Given the description of an element on the screen output the (x, y) to click on. 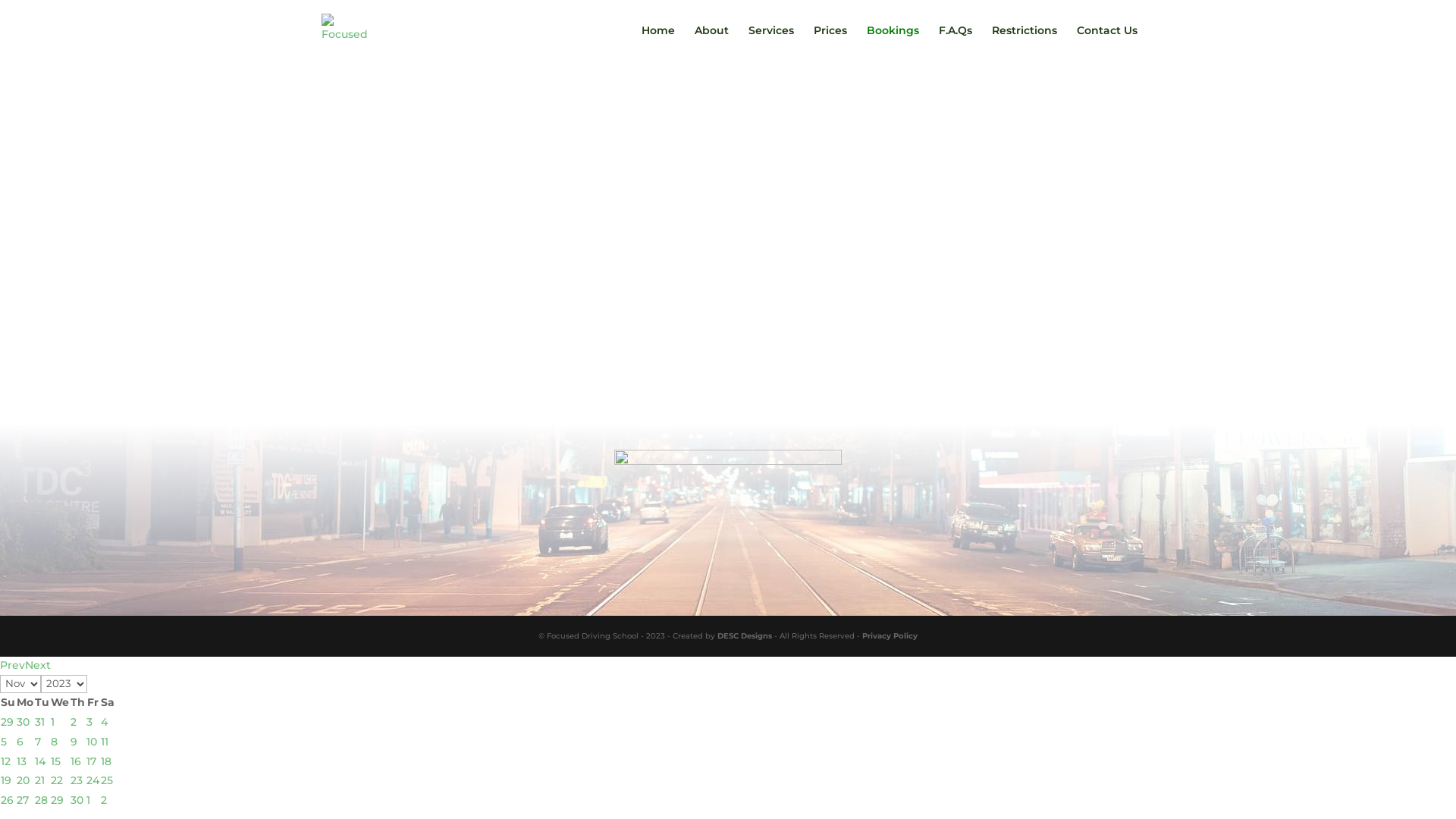
Bookings Element type: text (892, 42)
F.A.Qs Element type: text (955, 42)
30 Element type: text (76, 799)
2 Element type: text (73, 721)
3 Element type: text (89, 721)
29 Element type: text (56, 799)
1 Element type: text (88, 799)
21 Element type: text (39, 780)
7 Element type: text (37, 741)
24 Element type: text (92, 780)
14 Element type: text (39, 761)
8 Element type: text (53, 741)
19 Element type: text (5, 780)
16 Element type: text (75, 761)
28 Element type: text (40, 799)
About Element type: text (711, 42)
15 Element type: text (55, 761)
Restrictions Element type: text (1024, 42)
30 Element type: text (22, 721)
22 Element type: text (56, 780)
17 Element type: text (91, 761)
Home Element type: text (657, 42)
Prev Element type: text (12, 664)
9 Element type: text (73, 741)
18 Element type: text (105, 761)
29 Element type: text (6, 721)
10 Element type: text (91, 741)
DESC Designs Element type: text (744, 635)
4 Element type: text (103, 721)
Privacy Policy Element type: text (889, 635)
Next Element type: text (37, 664)
Prices Element type: text (830, 42)
Services Element type: text (770, 42)
5 Element type: text (3, 741)
31 Element type: text (39, 721)
2 Element type: text (103, 799)
13 Element type: text (21, 761)
12 Element type: text (5, 761)
26 Element type: text (6, 799)
Contact Us Element type: text (1106, 42)
20 Element type: text (22, 780)
27 Element type: text (22, 799)
25 Element type: text (106, 780)
1 Element type: text (52, 721)
6 Element type: text (19, 741)
23 Element type: text (76, 780)
11 Element type: text (104, 741)
